Given the description of an element on the screen output the (x, y) to click on. 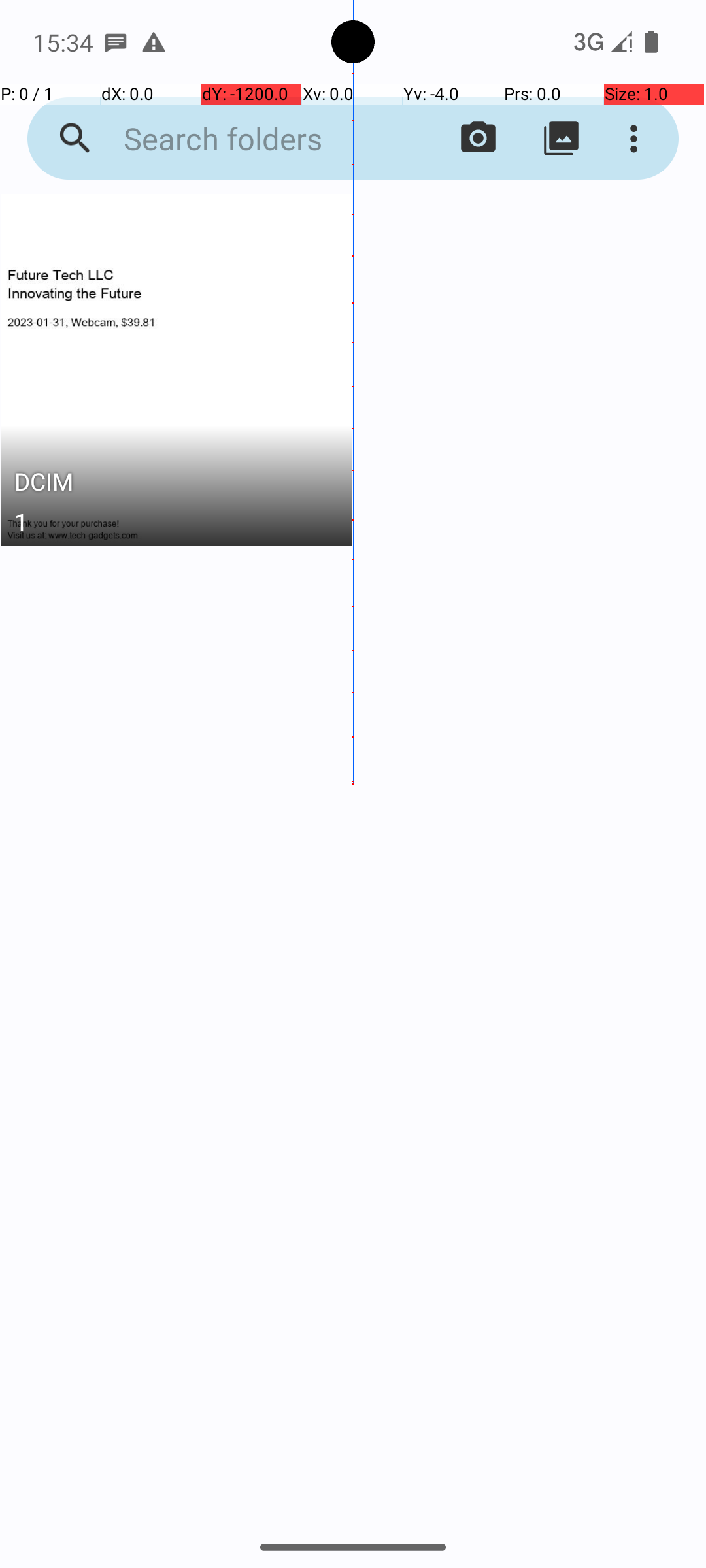
Search folders Element type: android.widget.EditText (252, 138)
Open camera Element type: android.widget.Button (477, 138)
Show all folders content Element type: android.widget.Button (560, 138)
DCIM Element type: android.widget.TextView (176, 484)
